Given the description of an element on the screen output the (x, y) to click on. 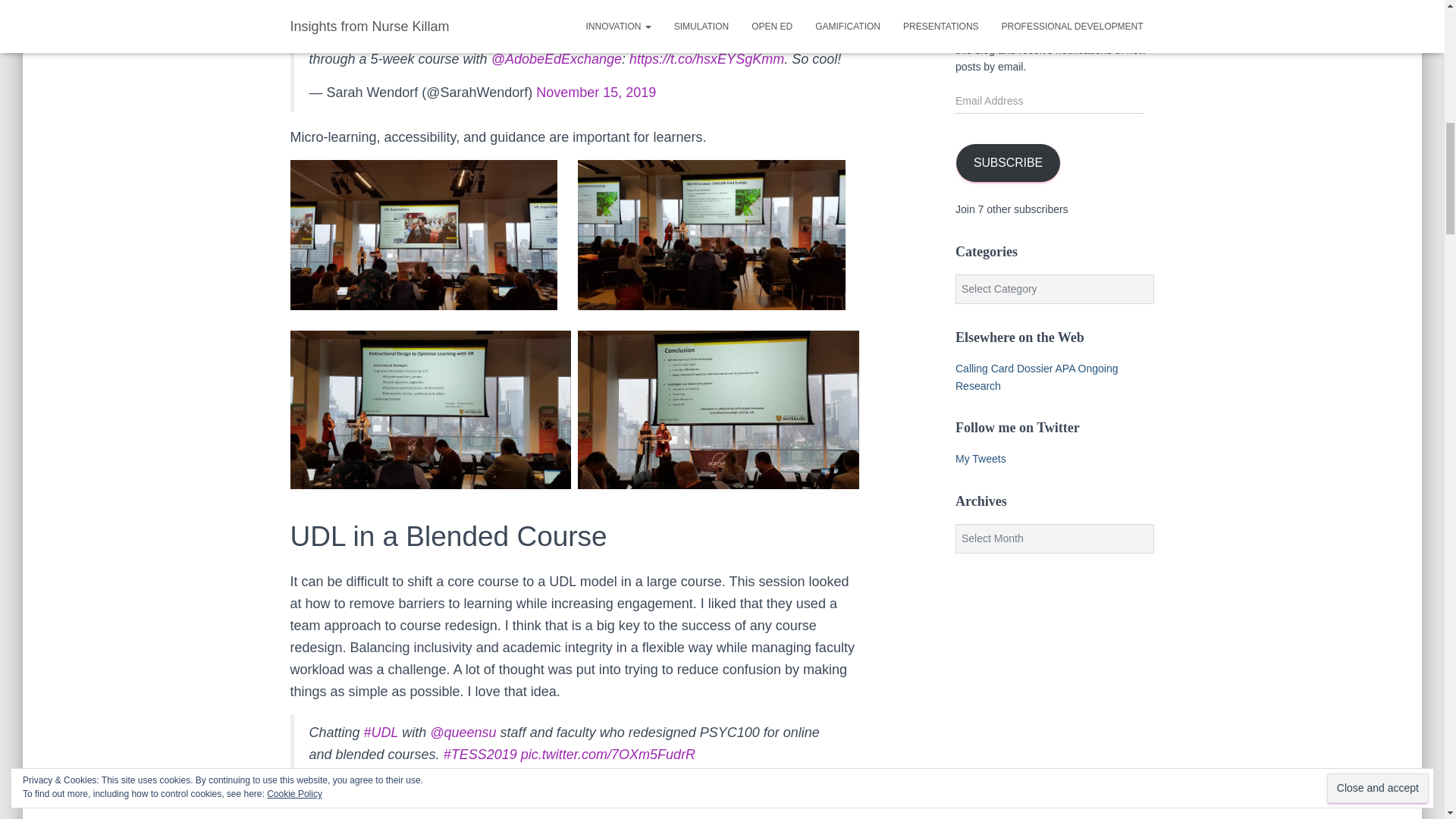
November 15, 2019 (595, 92)
November 18, 2019 (582, 788)
